Given the description of an element on the screen output the (x, y) to click on. 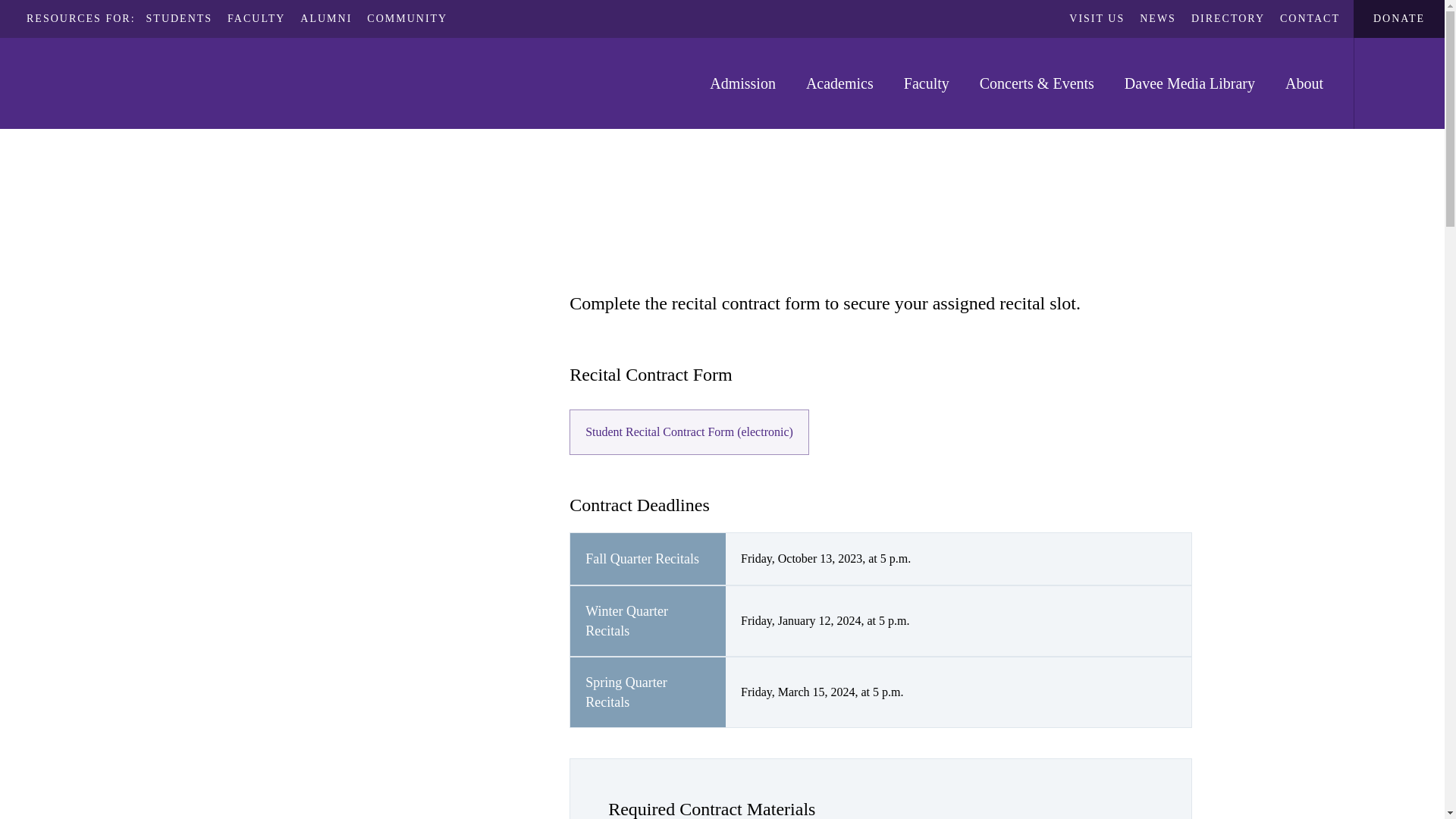
Academics (839, 82)
DIRECTORY (1228, 18)
VISIT US (1096, 18)
FACULTY (256, 18)
STUDENTS (179, 18)
CONTACT (1309, 18)
COMMUNITY (406, 18)
NEWS (1158, 18)
Admission (742, 82)
ALUMNI (325, 18)
